Given the description of an element on the screen output the (x, y) to click on. 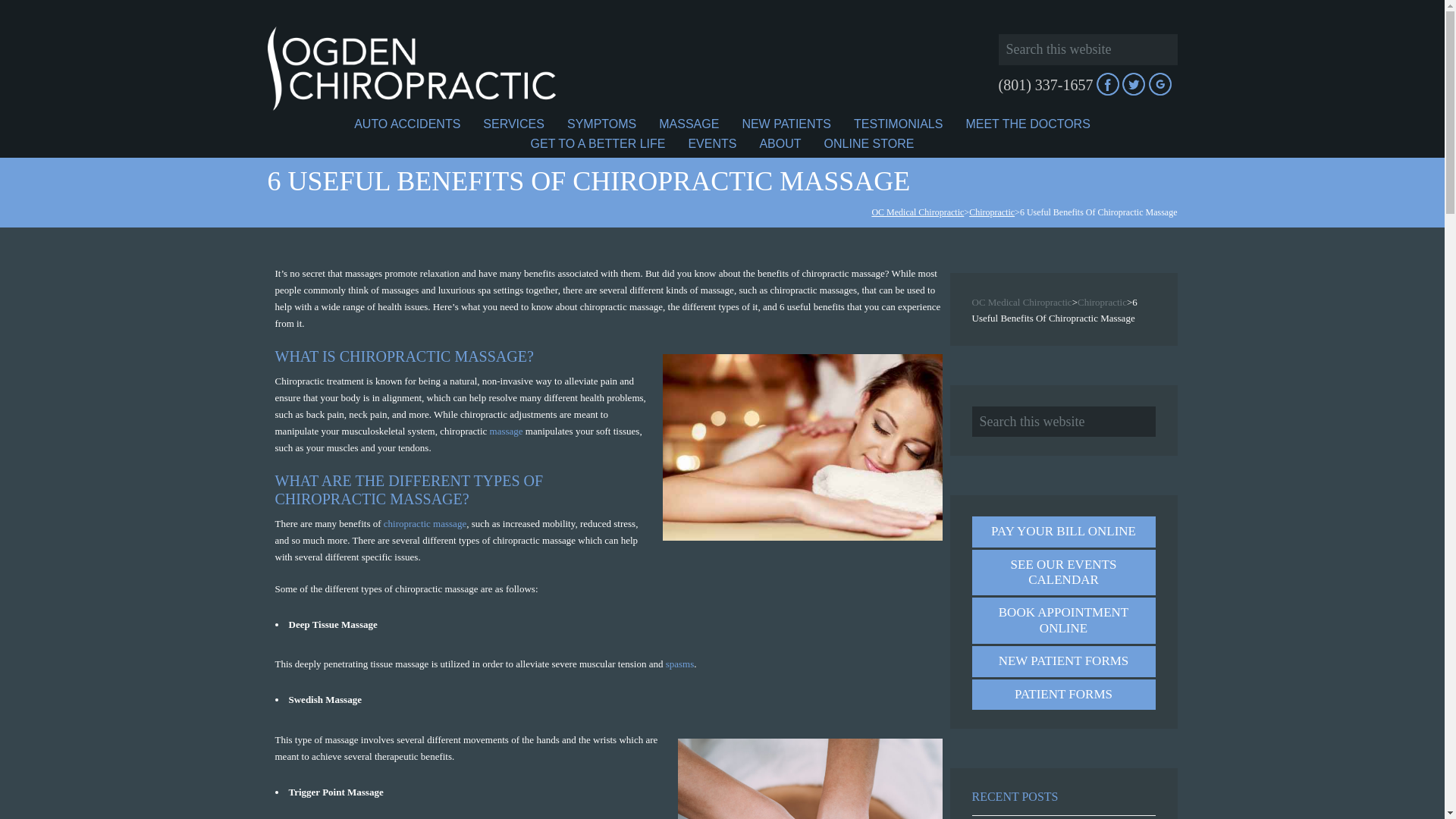
SYMPTOMS (601, 123)
6 Useful Benefits Of Chiropractic Massage (802, 446)
6 Useful Benefits Of Chiropractic Massage (810, 778)
AUTO ACCIDENTS (406, 123)
SERVICES (513, 123)
